Given the description of an element on the screen output the (x, y) to click on. 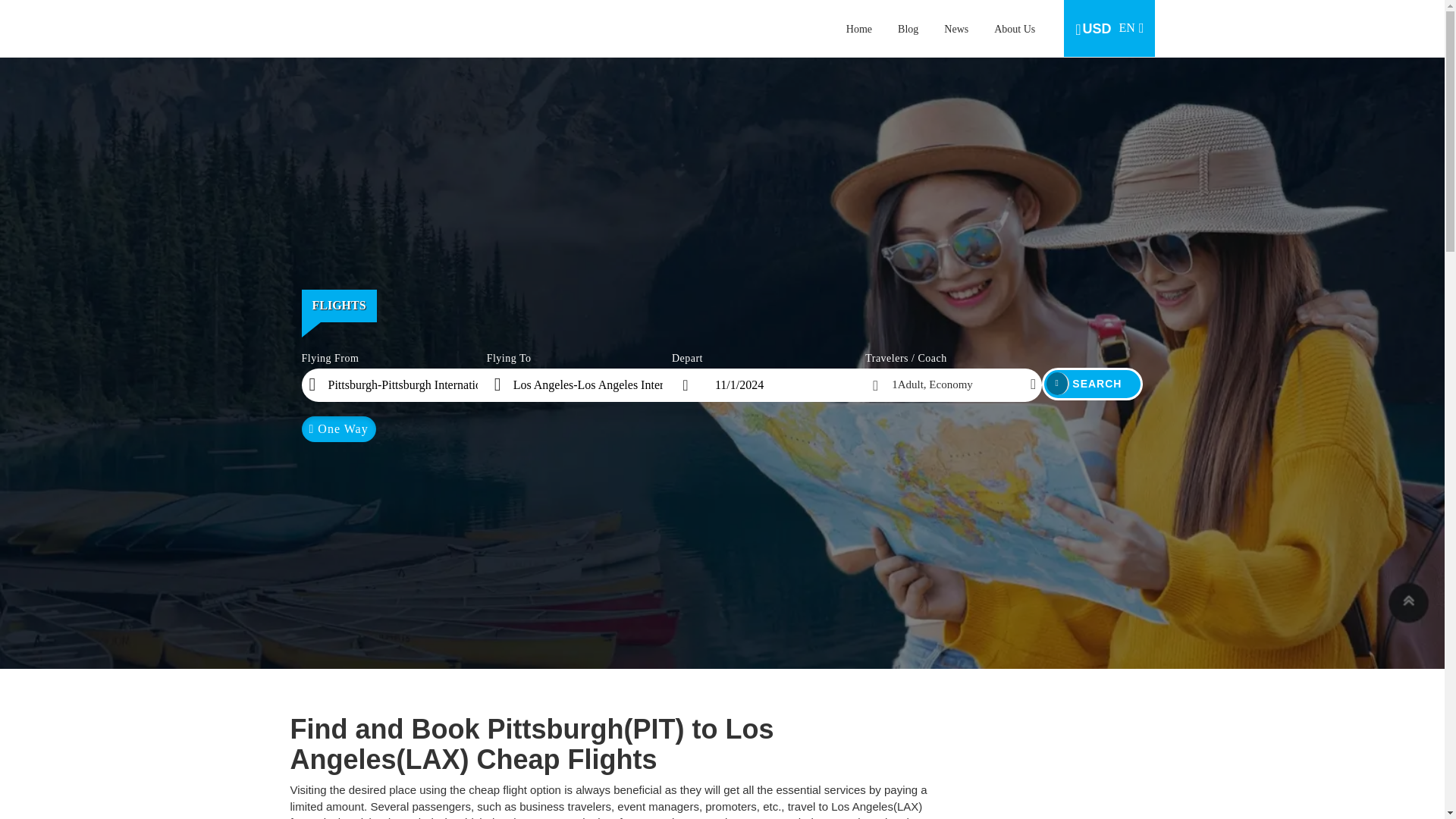
News (956, 28)
About Us (1014, 28)
SEARCH (1110, 28)
Blog (1092, 383)
Home (908, 28)
FLIGHTS (858, 28)
